Given the description of an element on the screen output the (x, y) to click on. 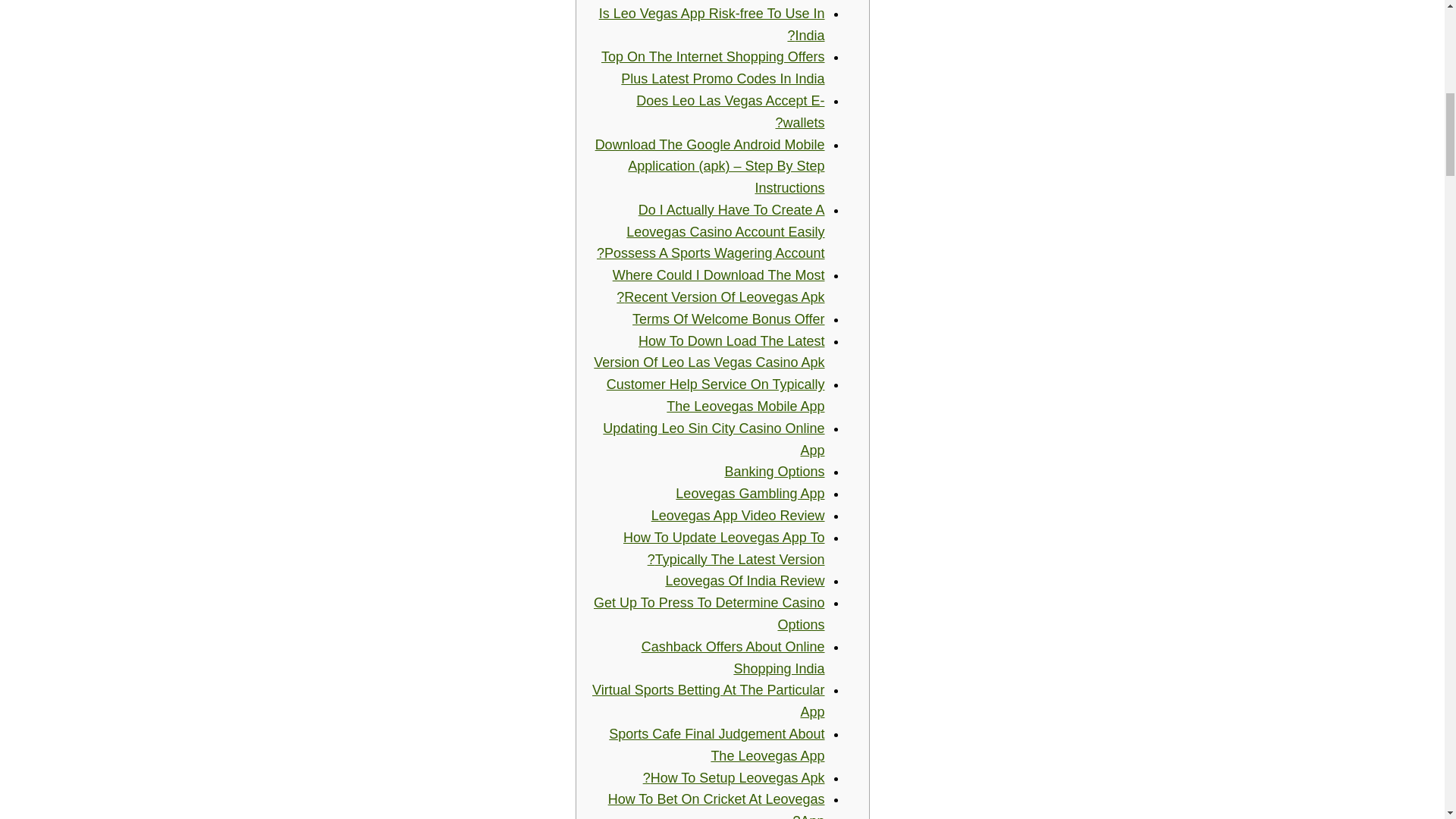
Cashback Offers About Online Shopping India (733, 657)
How To Setup Leovegas Apk? (734, 777)
Leovegas App Video Review (737, 515)
Does Leo Las Vegas Accept E-wallets? (730, 111)
Leovegas Gambling App (749, 493)
How To Bet On Cricket At Leovegas App? (716, 805)
Get Up To Press To Determine Casino Options (709, 613)
Updating Leo Sin City Casino Online App (713, 438)
Banking Options (773, 471)
Sports Cafe Final Judgement About The Leovegas App (716, 744)
Customer Help Service On Typically The Leovegas Mobile App (716, 395)
